Given the description of an element on the screen output the (x, y) to click on. 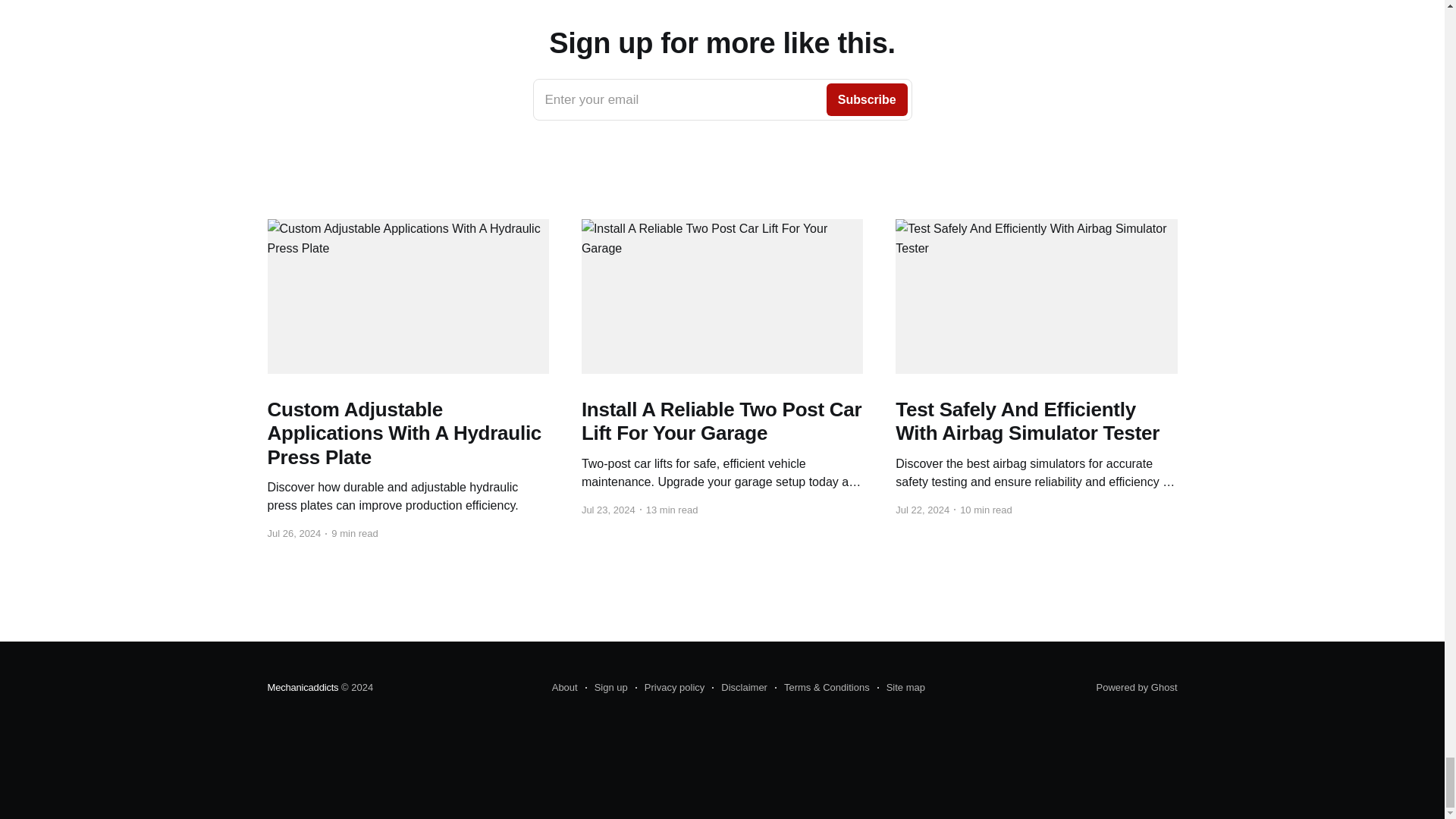
Site map (900, 687)
About (721, 99)
Sign up (564, 687)
Powered by Ghost (606, 687)
Disclaimer (1136, 686)
Mechanicaddicts (739, 687)
Privacy policy (301, 686)
